Given the description of an element on the screen output the (x, y) to click on. 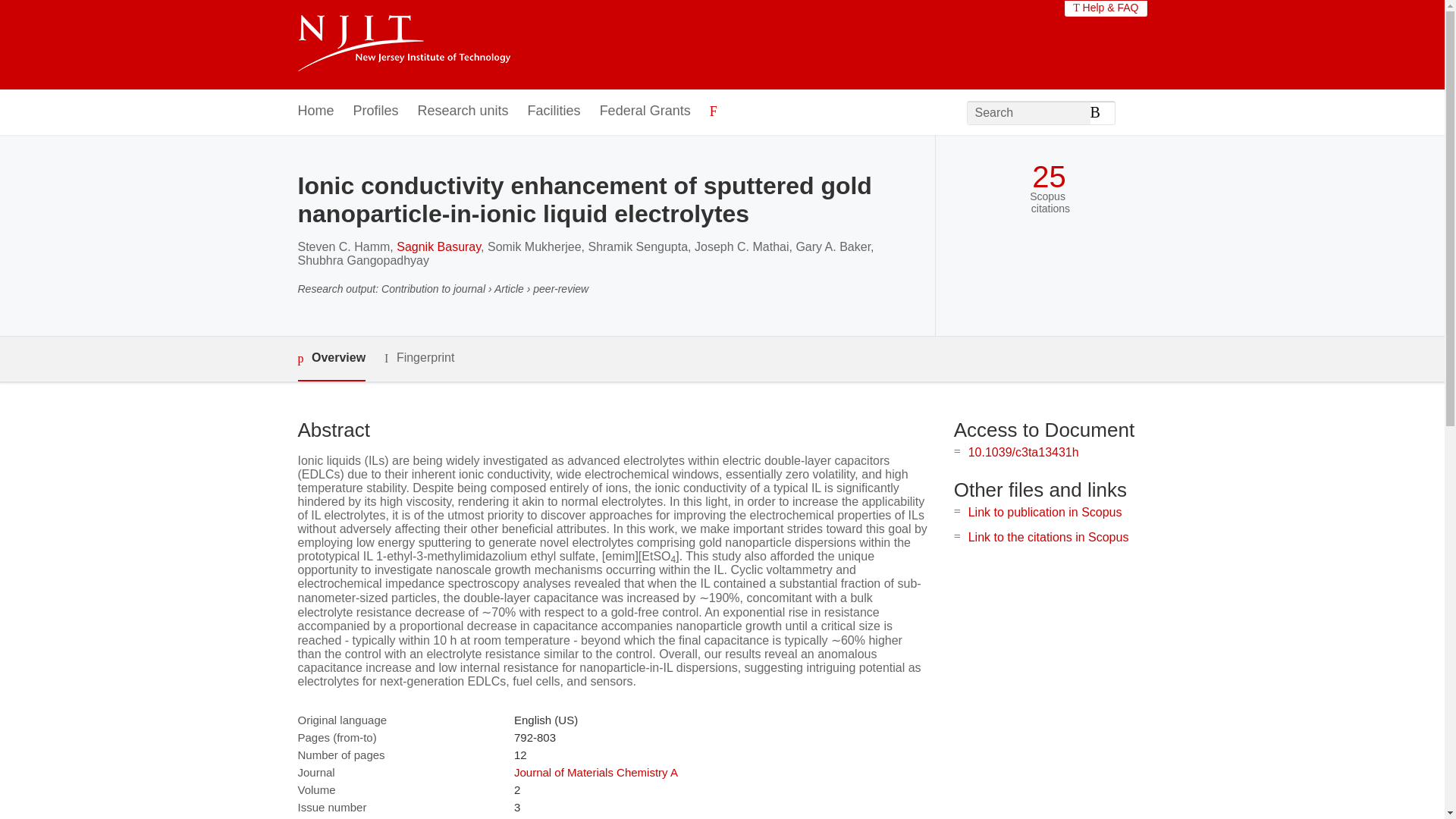
New Jersey Institute of Technology Home (403, 44)
Journal of Materials Chemistry A (595, 771)
Facilities (553, 111)
Link to publication in Scopus (1045, 512)
Sagnik Basuray (438, 246)
25 (1048, 176)
Link to the citations in Scopus (1048, 536)
Research units (462, 111)
Fingerprint (419, 358)
